Given the description of an element on the screen output the (x, y) to click on. 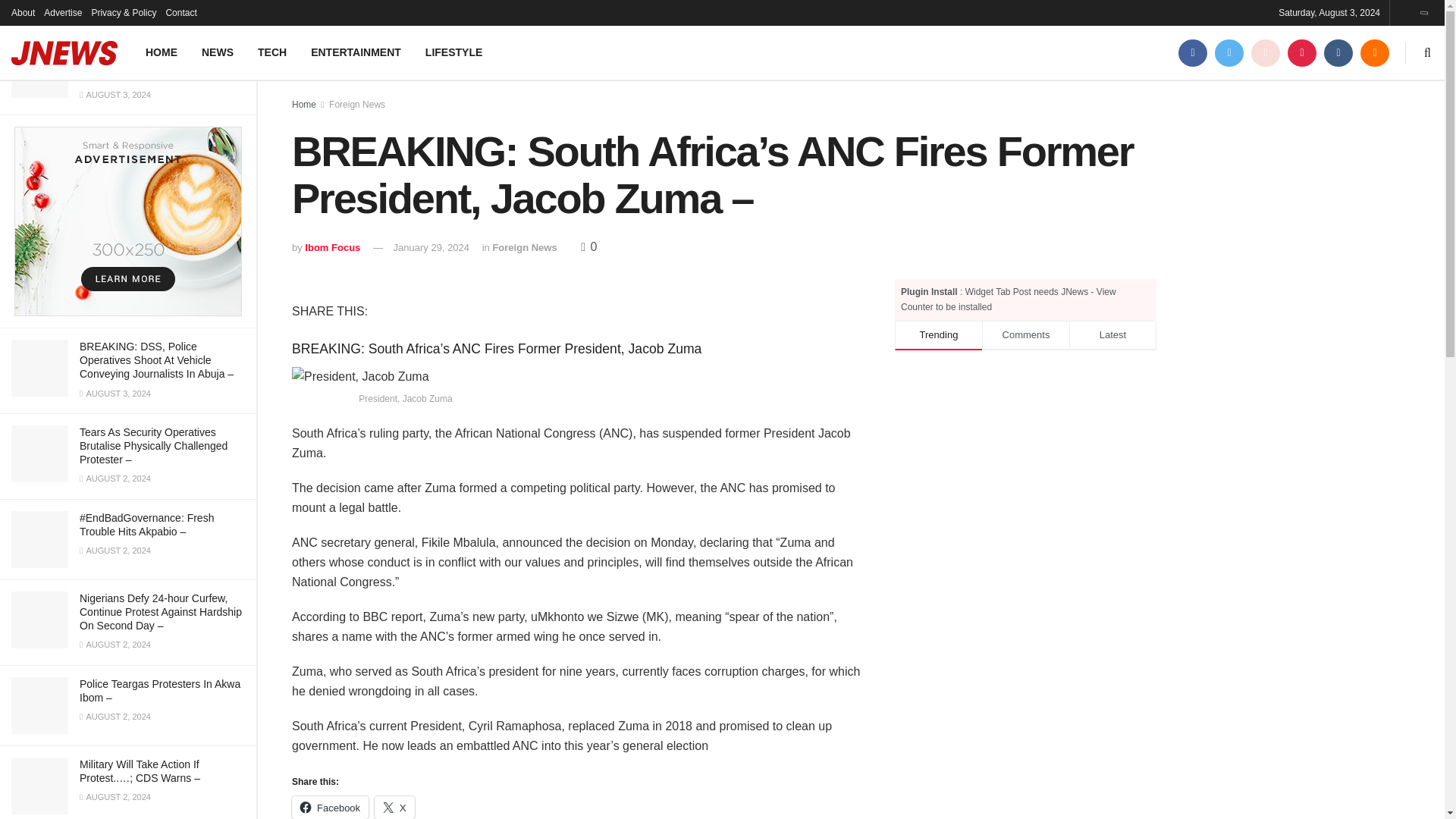
About (22, 12)
Filter (227, 13)
Advertise (62, 12)
